Given the description of an element on the screen output the (x, y) to click on. 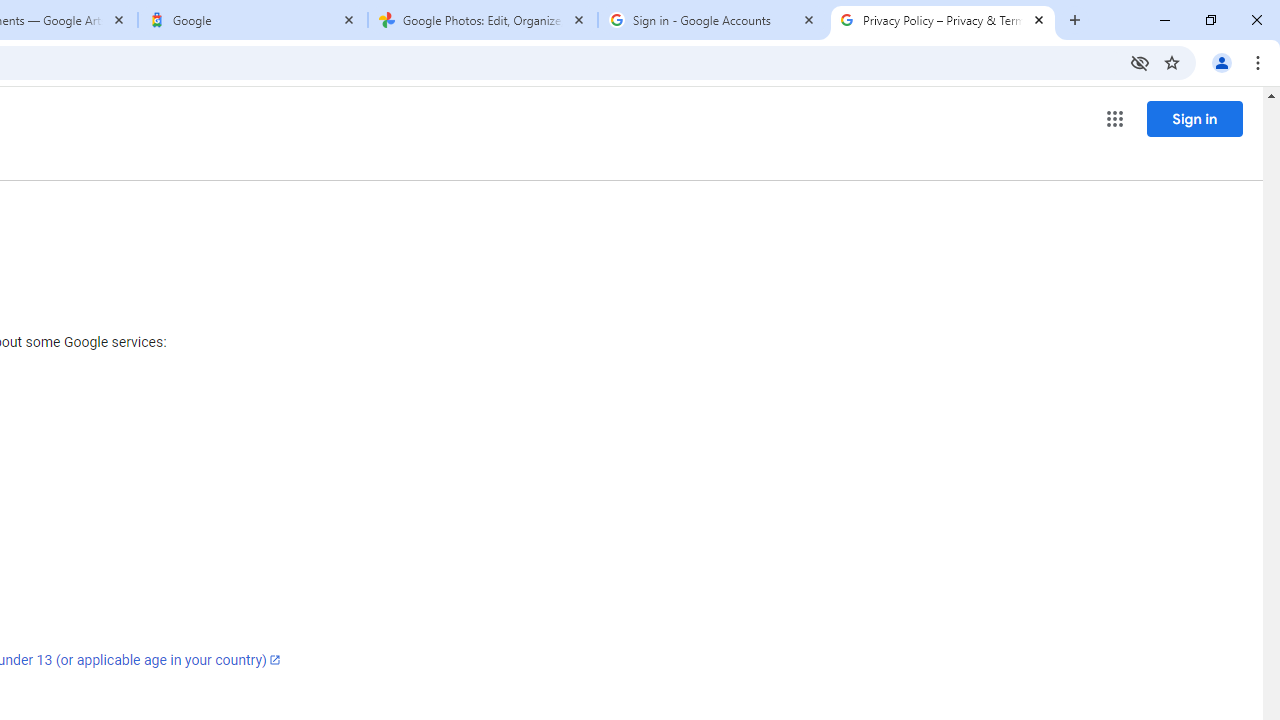
Sign in - Google Accounts (712, 20)
Google (253, 20)
